Given the description of an element on the screen output the (x, y) to click on. 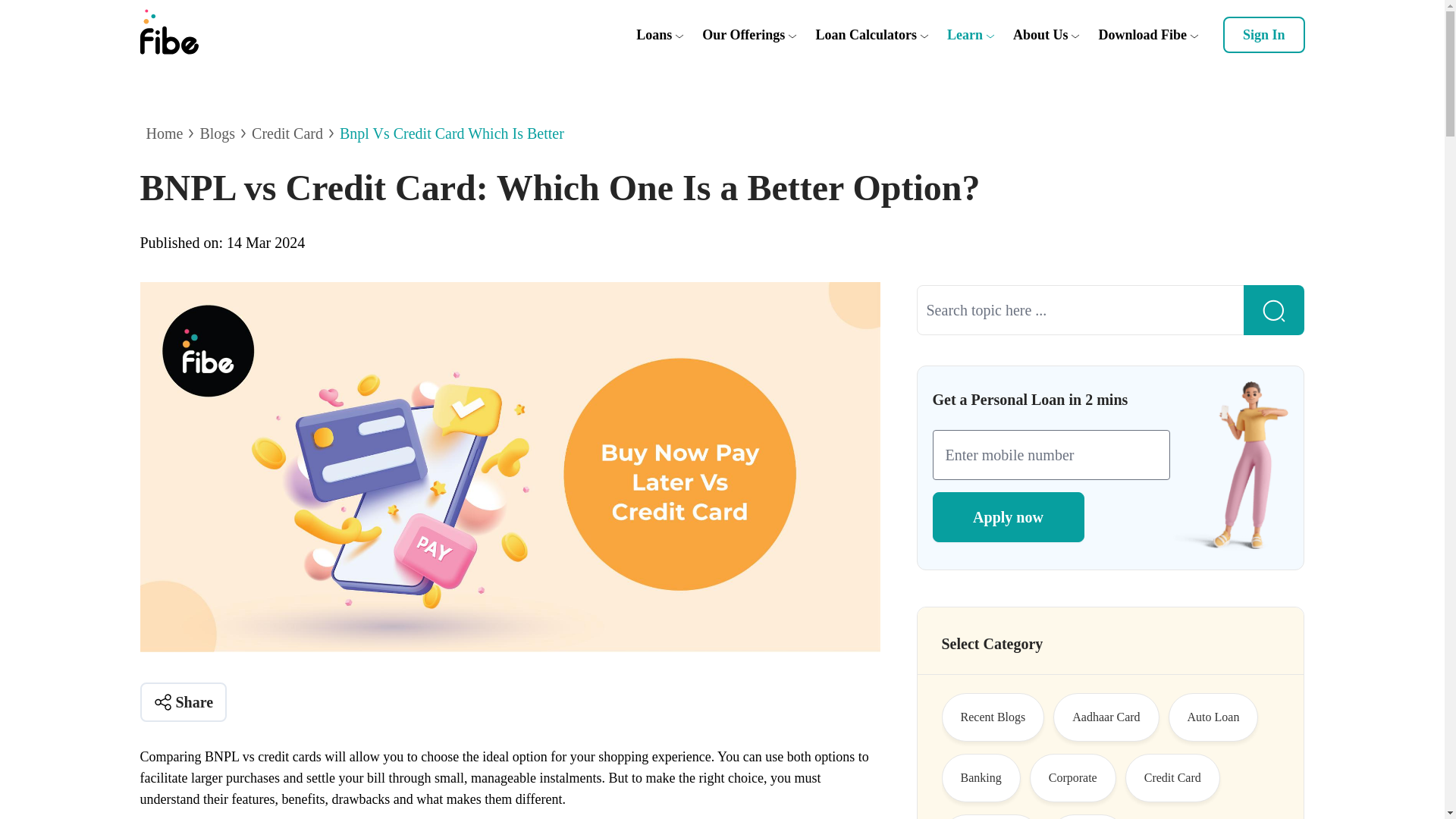
Our Offerings (742, 34)
Home (164, 133)
Credit Card (287, 133)
Loan Calculators (866, 34)
Blogs (217, 133)
About Us (1040, 34)
Download Fibe (1141, 34)
Sign In (1263, 34)
